Given the description of an element on the screen output the (x, y) to click on. 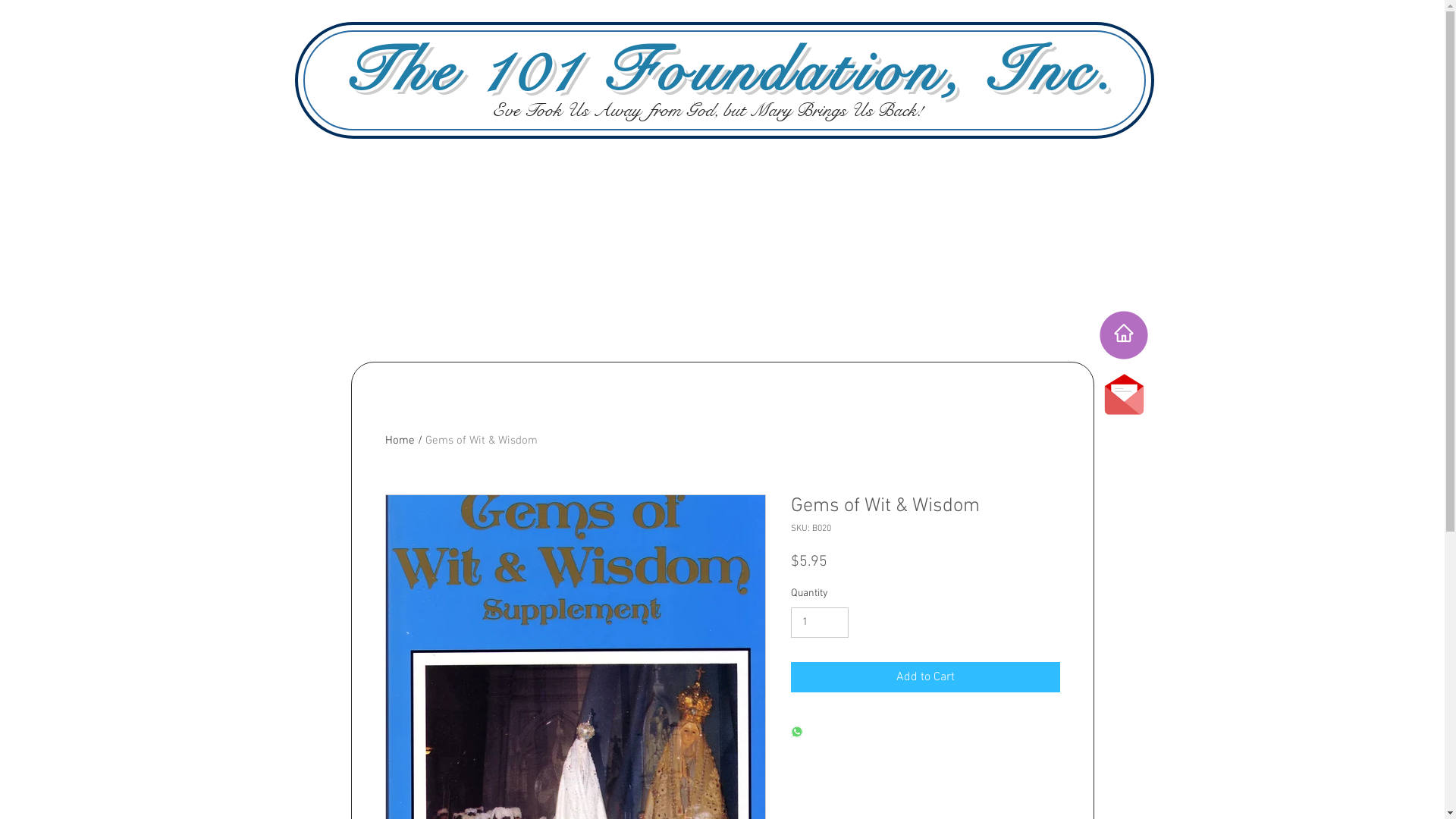
Gems of Wit & Wisdom Element type: text (480, 440)
Home Element type: text (399, 440)
The 101 Foundation, Inc. Element type: text (729, 70)
Add to Cart Element type: text (924, 677)
